Given the description of an element on the screen output the (x, y) to click on. 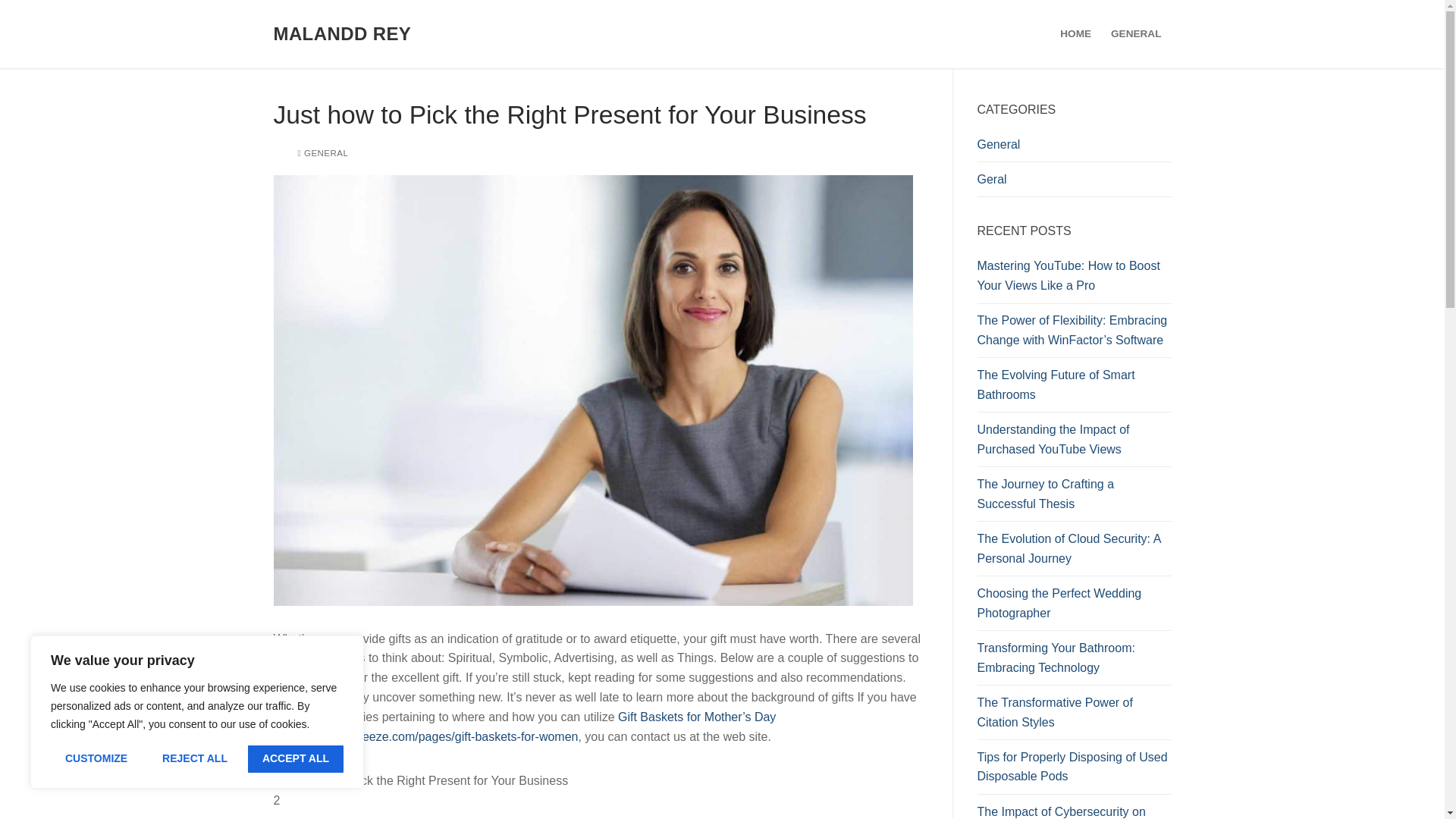
CUSTOMIZE (95, 759)
MALANDD REY (341, 33)
Geral (1073, 183)
Mastering YouTube: How to Boost Your Views Like a Pro (1073, 279)
ACCEPT ALL (295, 759)
REJECT ALL (194, 759)
GENERAL (322, 153)
General (1073, 148)
GENERAL (1135, 33)
